Given the description of an element on the screen output the (x, y) to click on. 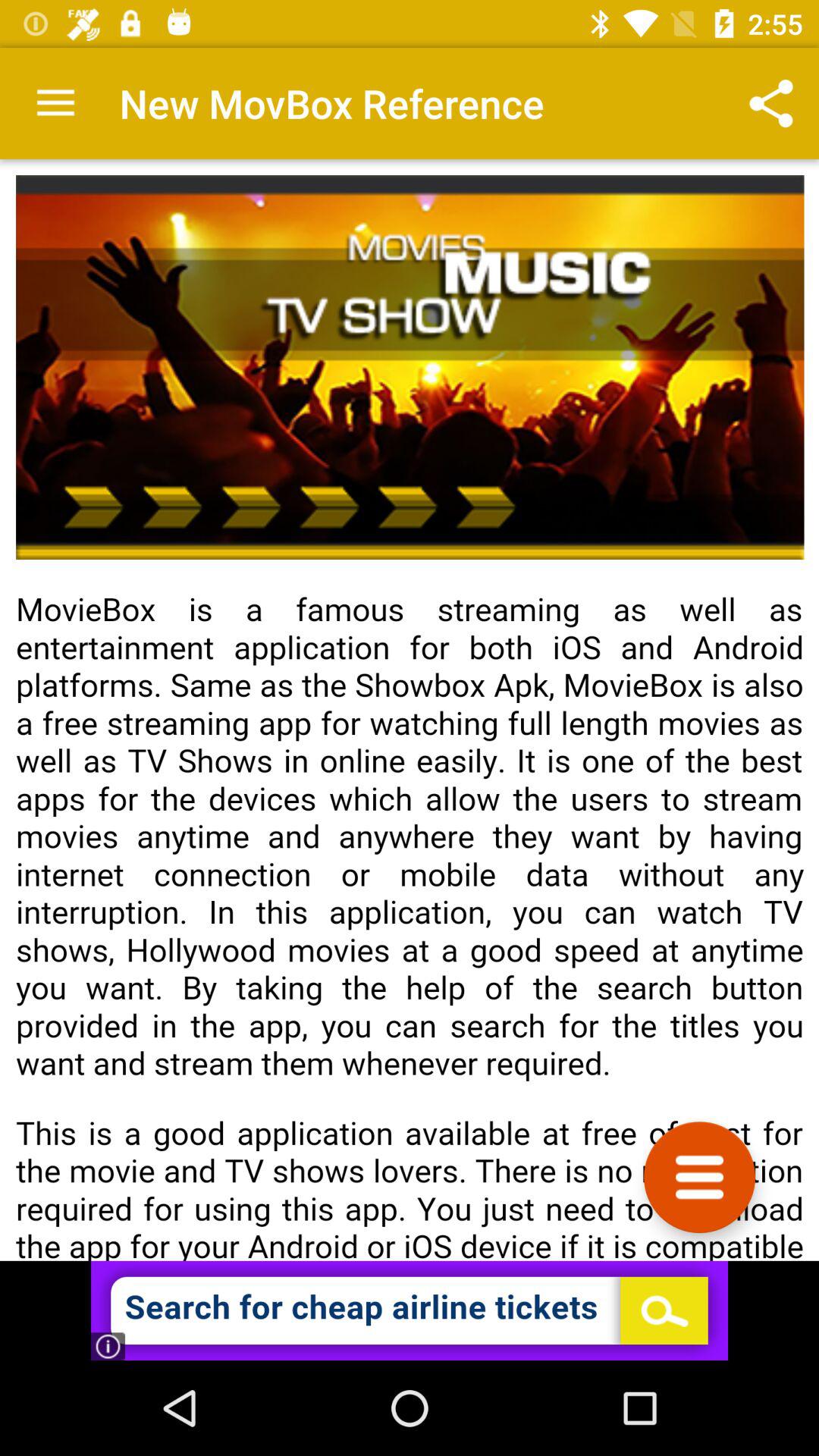
go to customize (699, 1177)
